Given the description of an element on the screen output the (x, y) to click on. 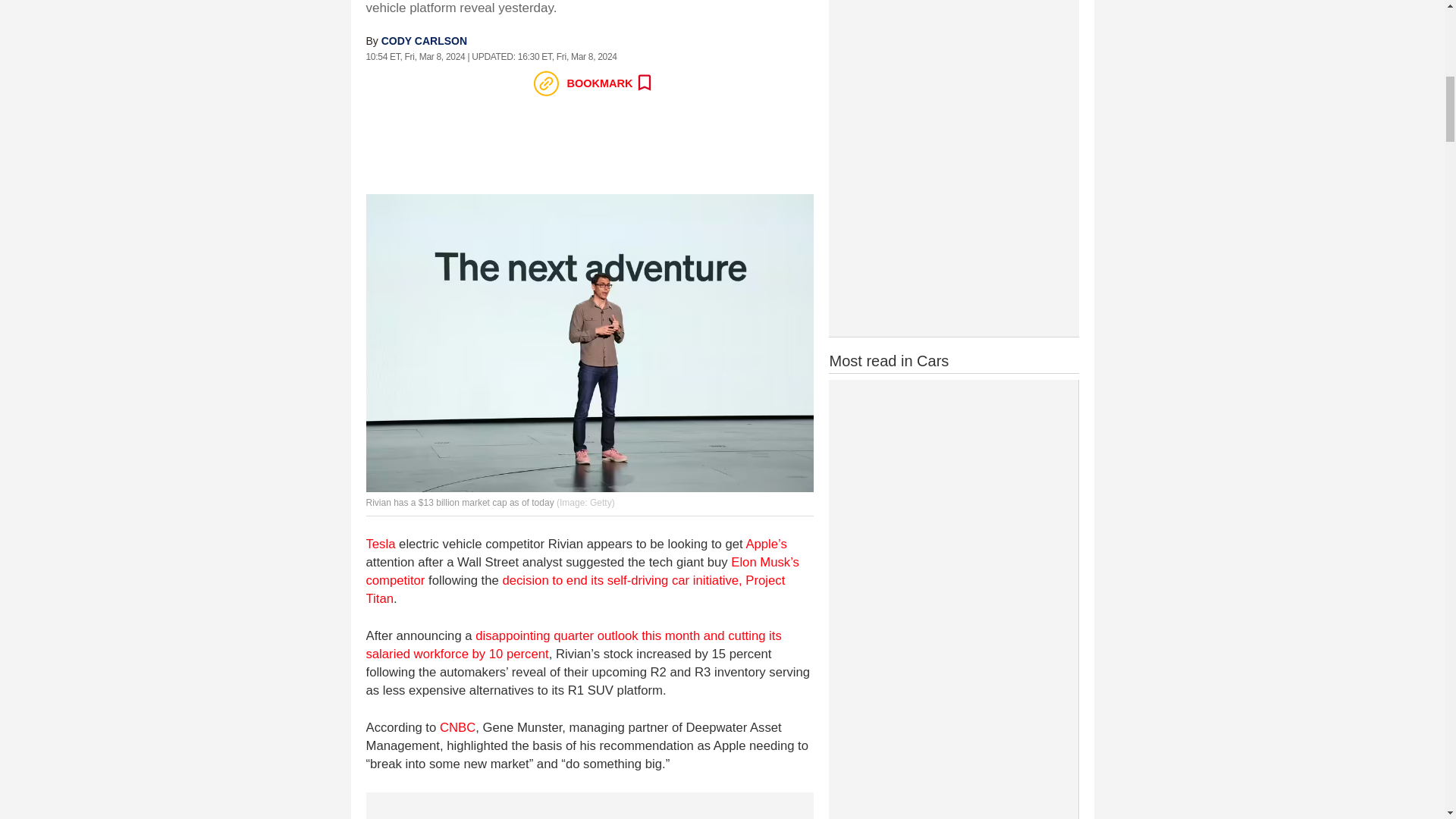
Share on Reddit (445, 83)
CNBC (457, 727)
Share on Pinterest (511, 83)
Share on Twitter (411, 83)
Rivian founder RJ Scaringe on stage at his keynote (588, 343)
Share on LinkedIn (478, 83)
CODY CARLSON (424, 40)
Share on Facebook (378, 83)
Tesla (379, 544)
